Given the description of an element on the screen output the (x, y) to click on. 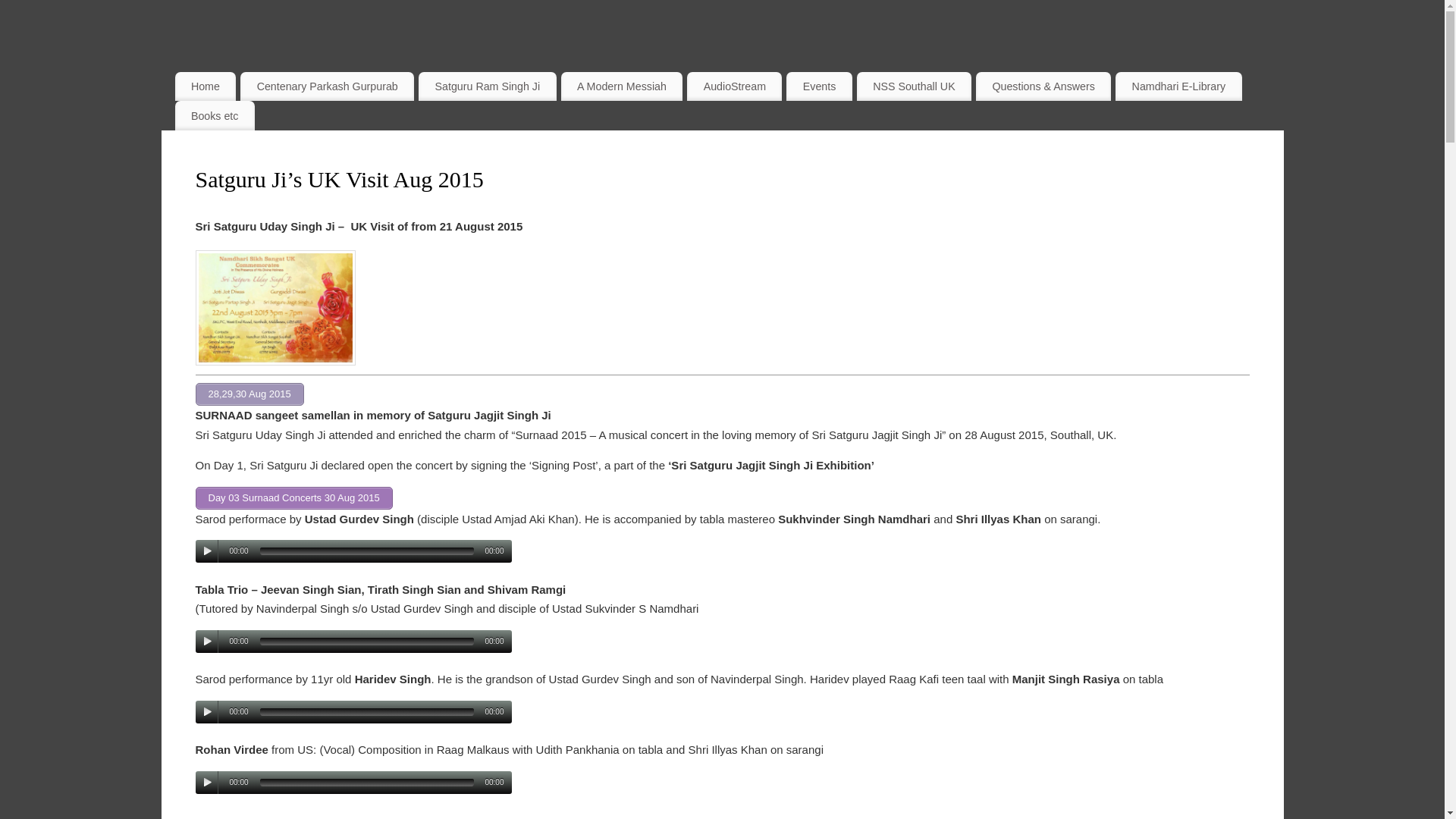
Centenary Parkash Gurpurab (326, 86)
AudioStream (734, 86)
Home (204, 86)
Satguru Ram Singh Ji (487, 86)
A Modern Messiah (621, 86)
